Given the description of an element on the screen output the (x, y) to click on. 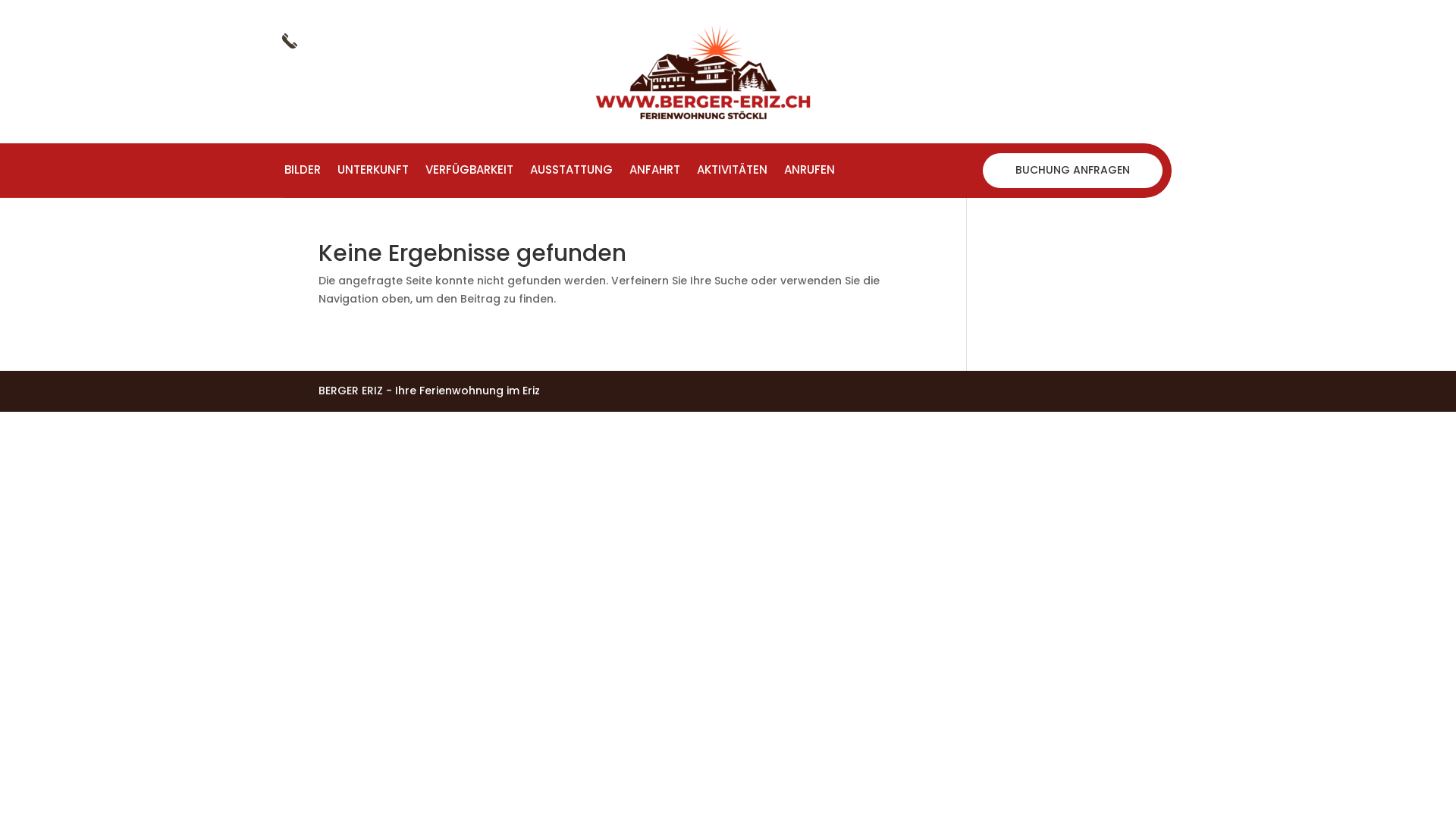
UNTERKUNFT Element type: text (372, 172)
+41 33 453 11 52 Element type: text (358, 39)
ANRUFEN Element type: text (809, 172)
BUCHUNG ANFRAGEN Element type: text (1072, 170)
AUSSTATTUNG Element type: text (571, 172)
BILDER Element type: text (302, 172)
ANFAHRT Element type: text (654, 172)
